Given the description of an element on the screen output the (x, y) to click on. 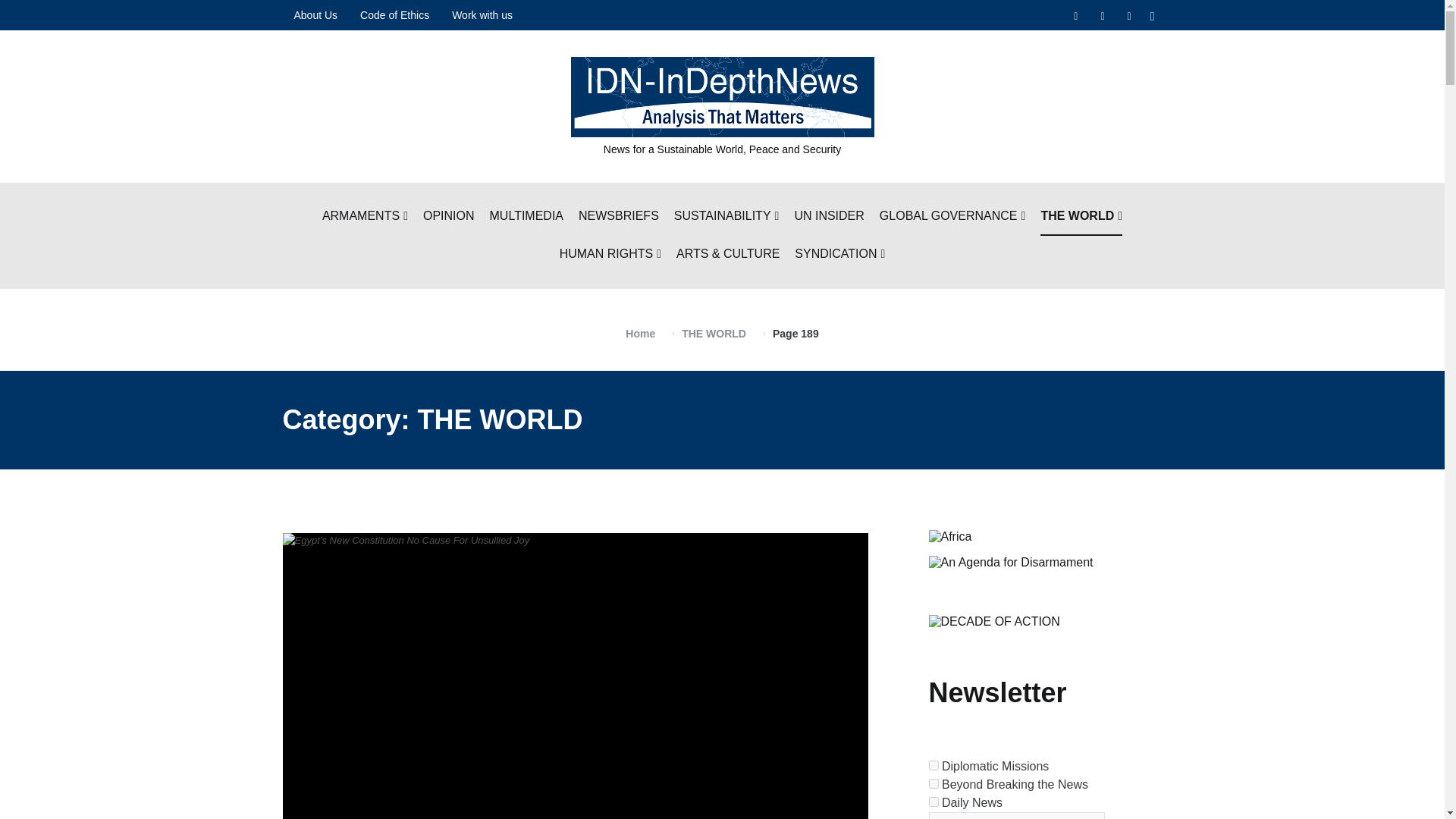
ARMAMENTS (364, 216)
MULTIMEDIA (526, 216)
OPINION (448, 216)
9 (932, 783)
About Us (315, 14)
Work with us (482, 14)
10 (932, 801)
SUSTAINABILITY (726, 216)
8 (932, 765)
UN INSIDER (828, 216)
